Given the description of an element on the screen output the (x, y) to click on. 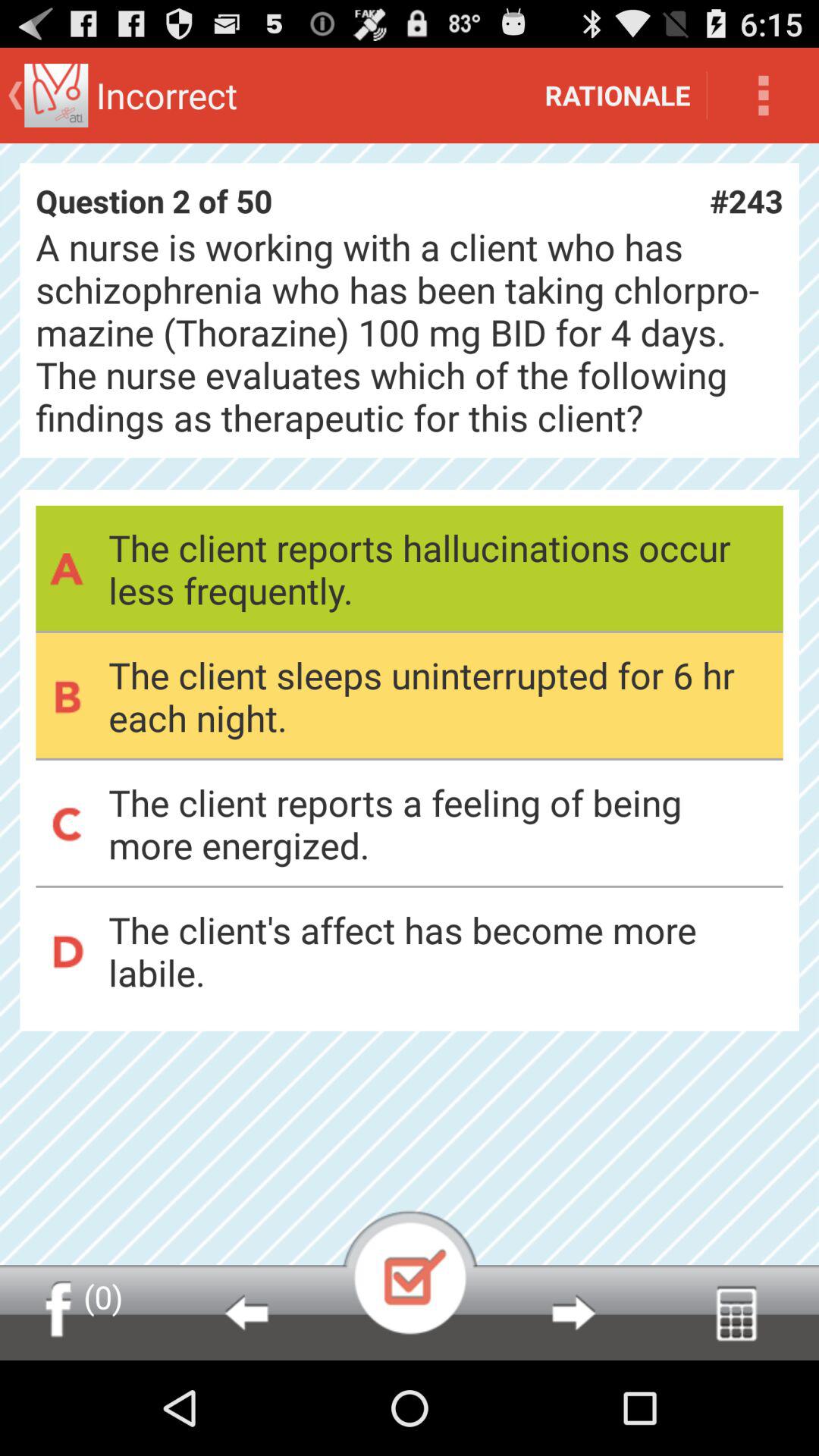
calculator option (736, 1312)
